Given the description of an element on the screen output the (x, y) to click on. 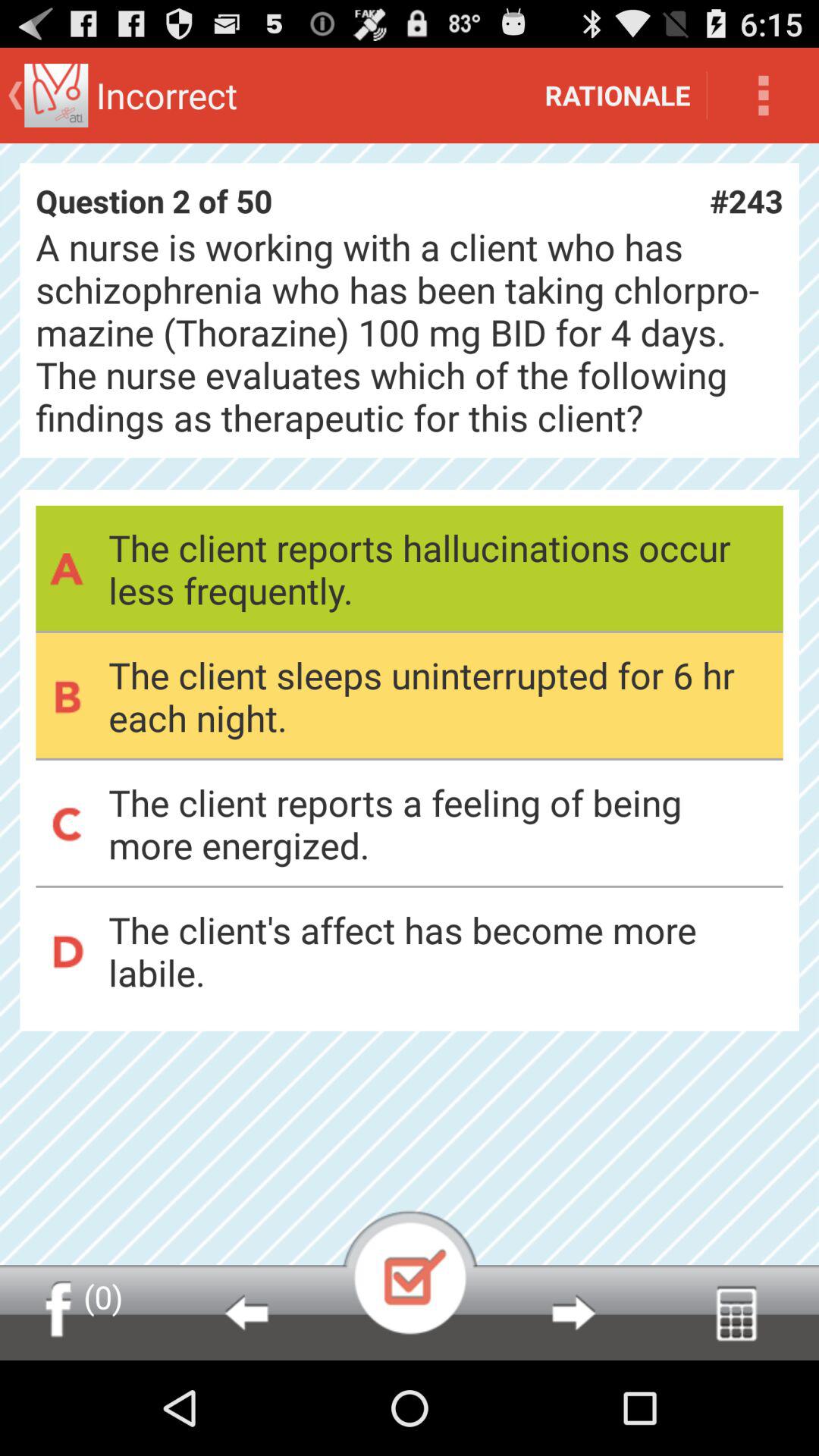
calculator option (736, 1312)
